Given the description of an element on the screen output the (x, y) to click on. 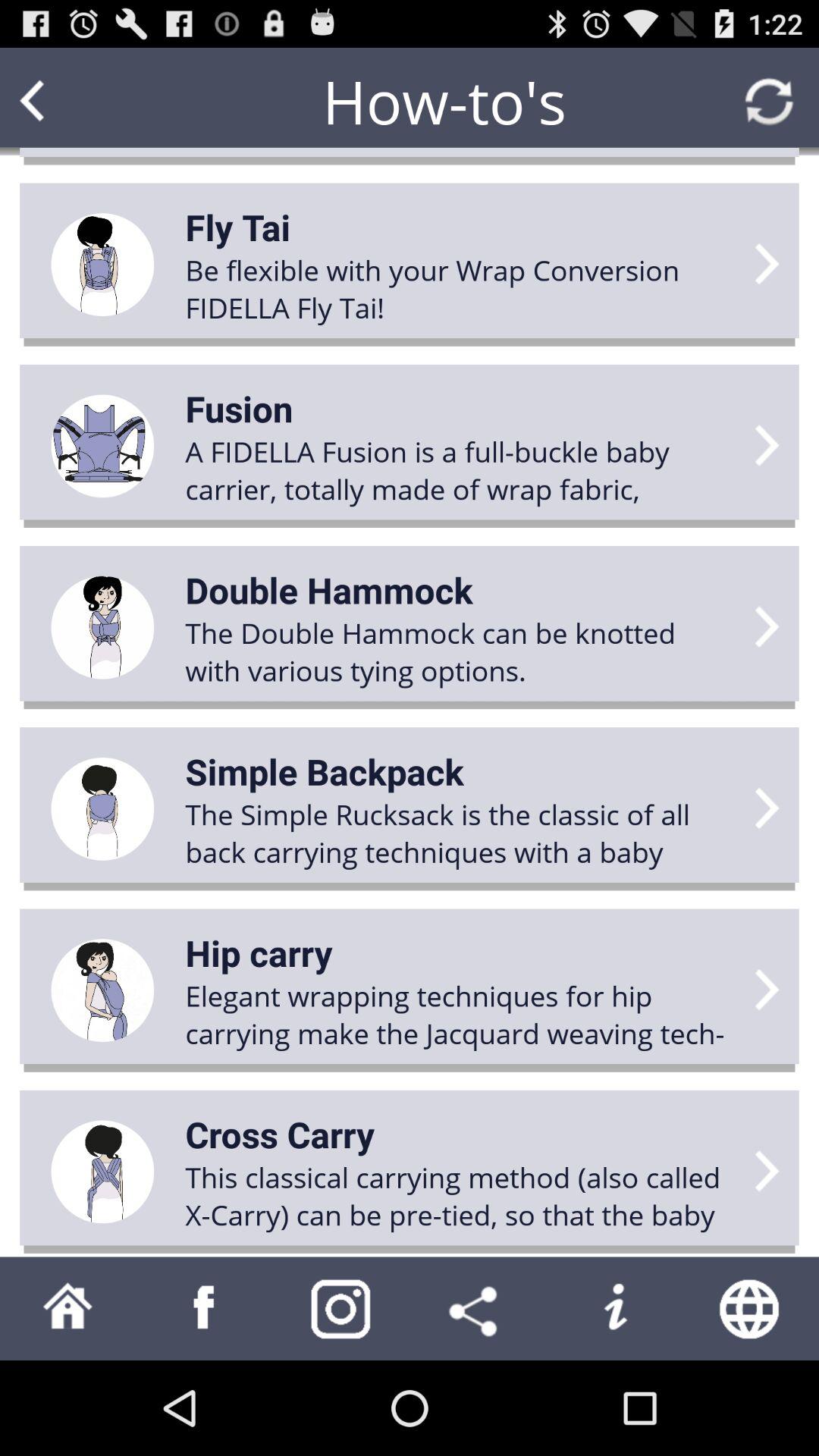
instagram option (341, 1308)
